Given the description of an element on the screen output the (x, y) to click on. 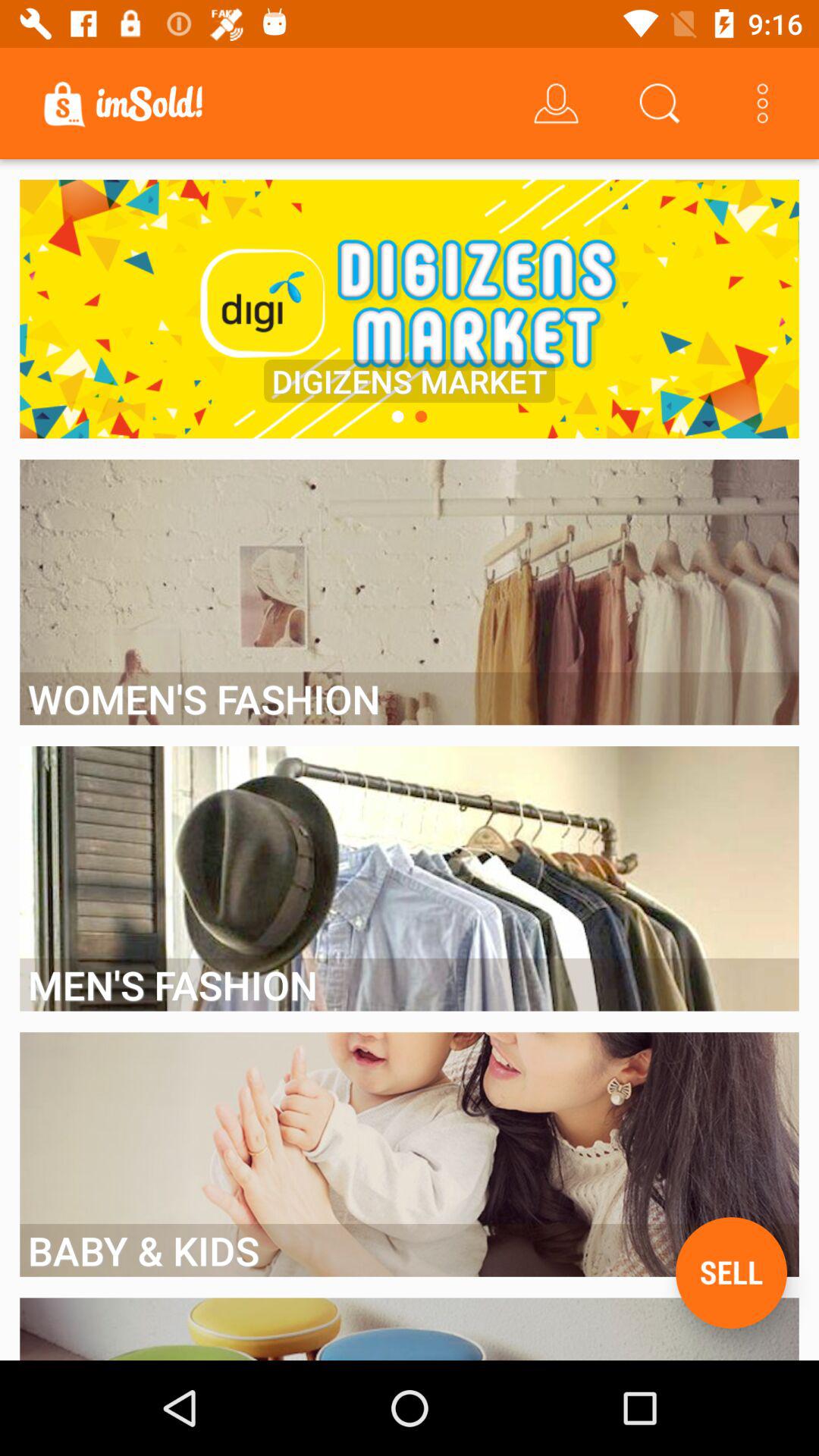
scroll until baby & kids (409, 1249)
